Given the description of an element on the screen output the (x, y) to click on. 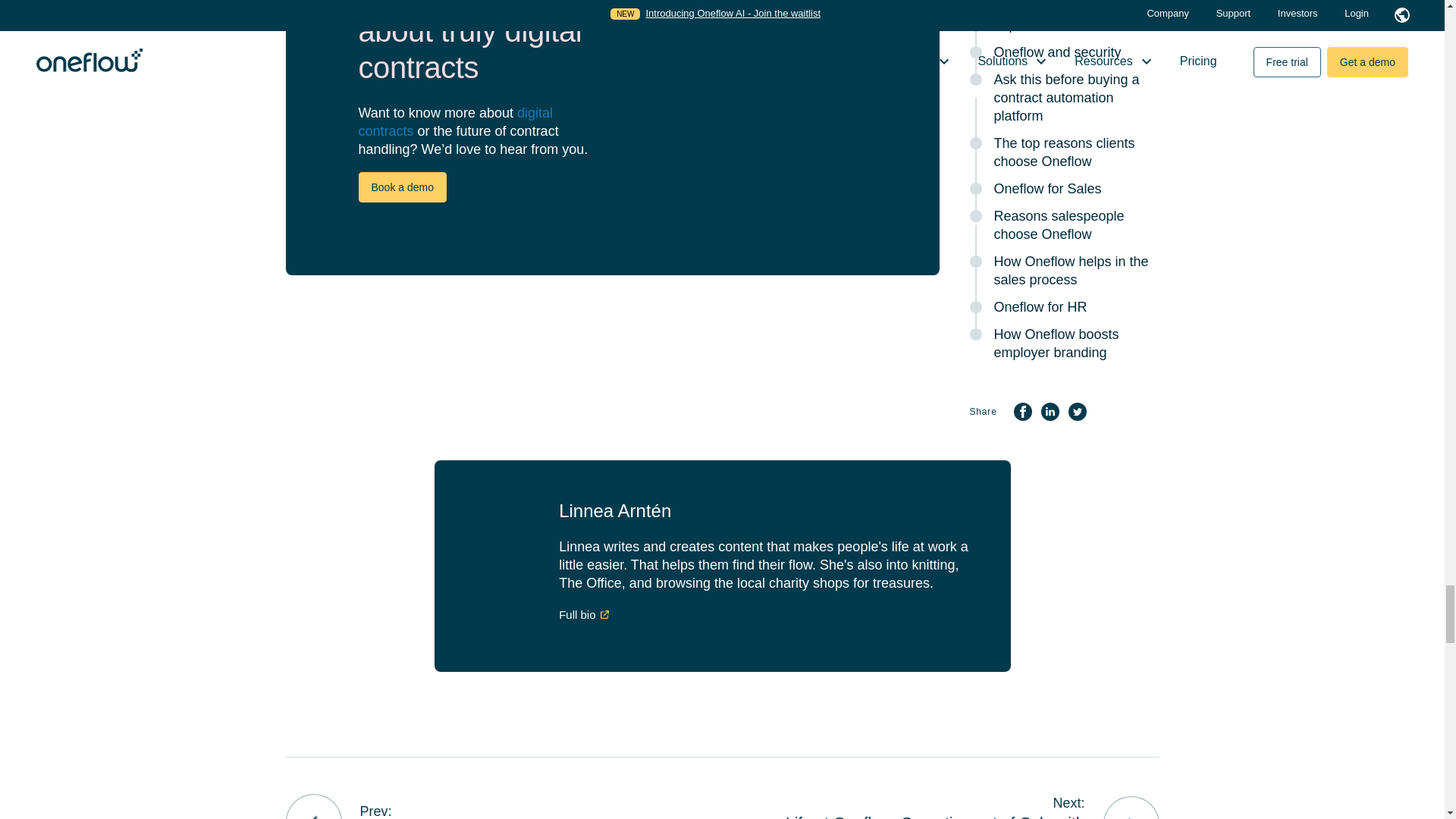
external-link-icon-2048x2048-wo7lfgrz (604, 613)
